Given the description of an element on the screen output the (x, y) to click on. 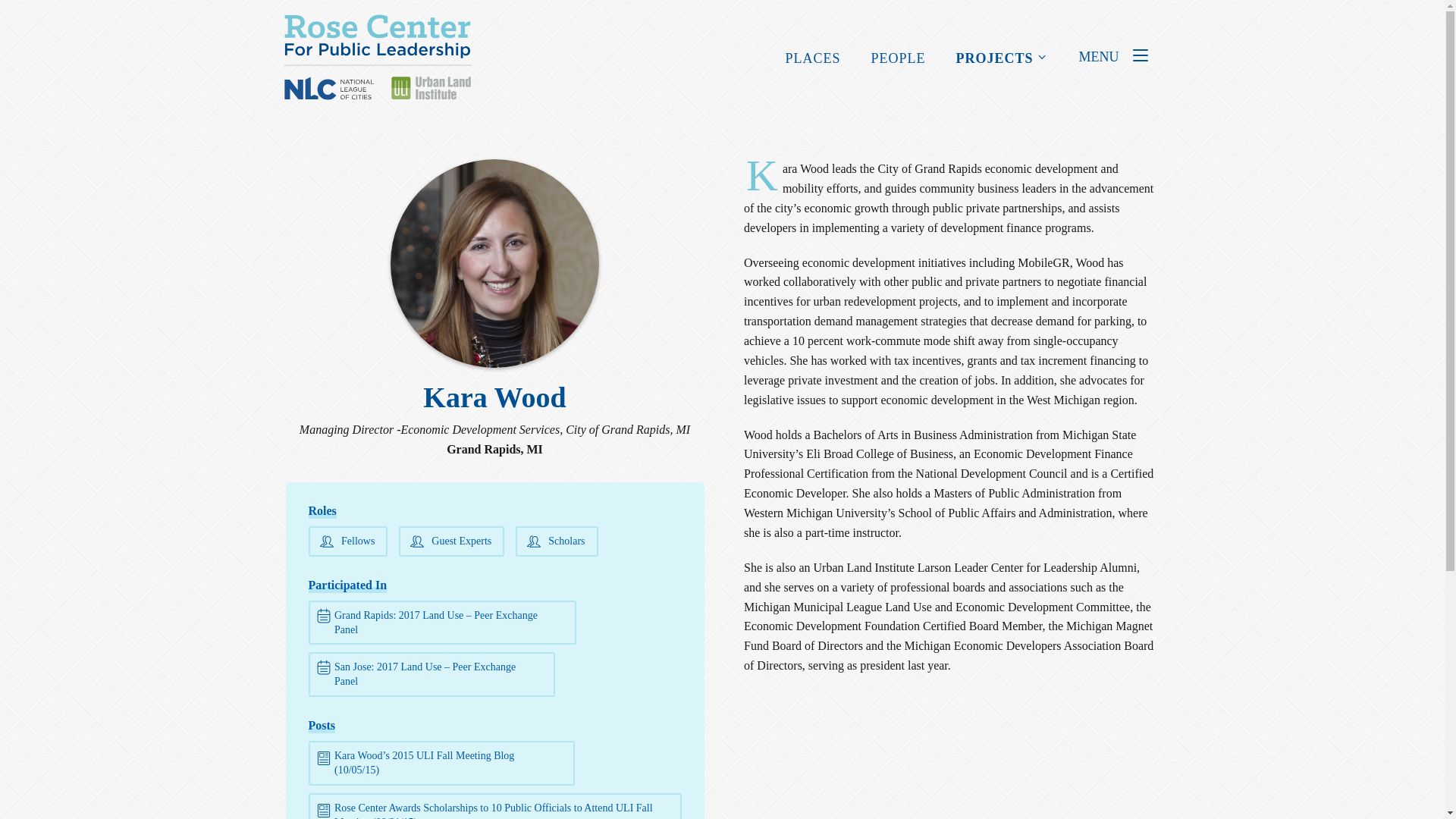
PLACES (813, 58)
PLACES (813, 58)
PROJECTS (994, 58)
PROJECTS (994, 58)
Fellows (347, 541)
For Public Leadership in Land Use (376, 56)
Scholars (556, 541)
PEOPLE (898, 58)
PEOPLE (898, 58)
Guest Experts (450, 541)
